Given the description of an element on the screen output the (x, y) to click on. 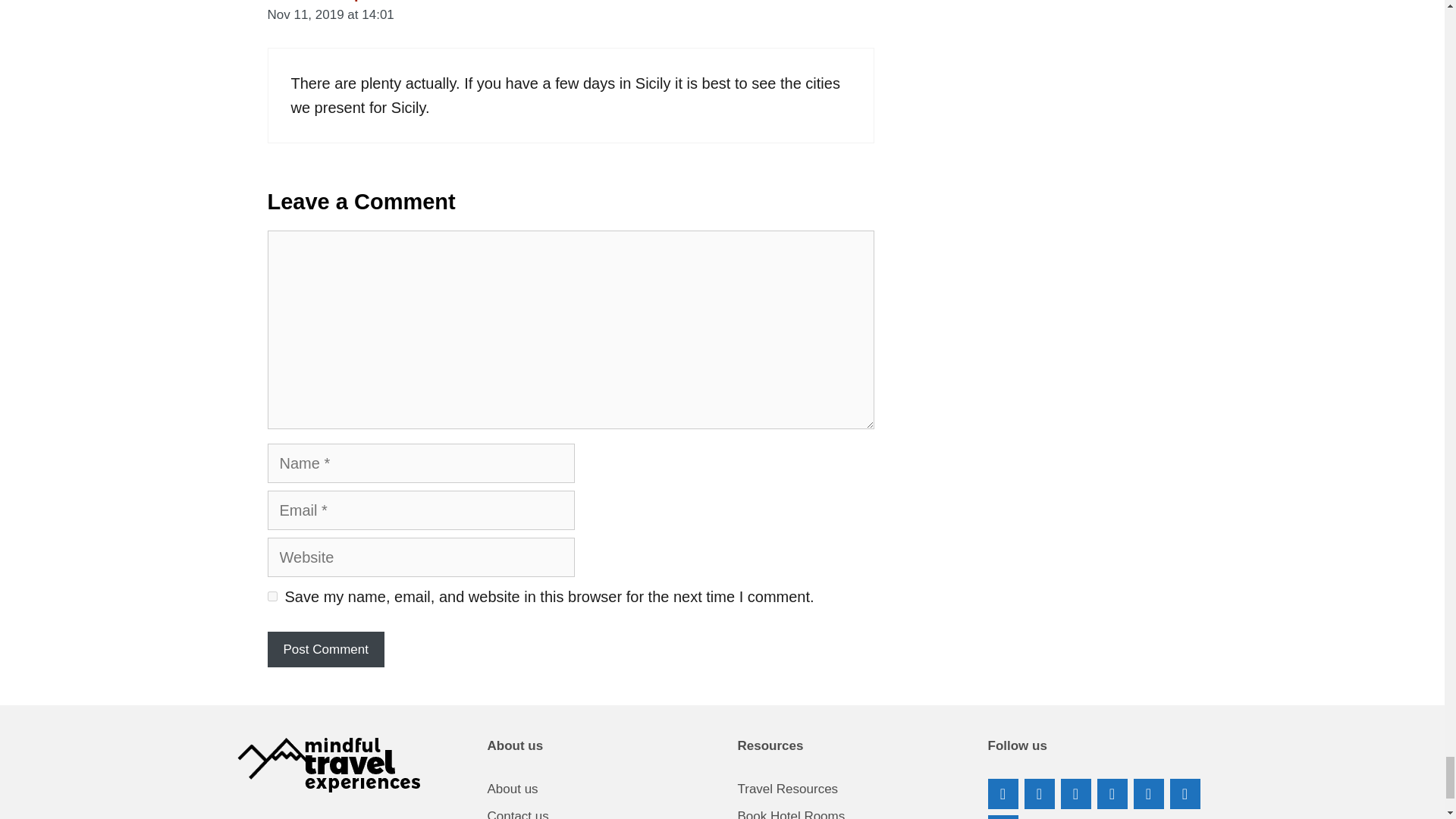
Post Comment (325, 649)
yes (271, 596)
